Given the description of an element on the screen output the (x, y) to click on. 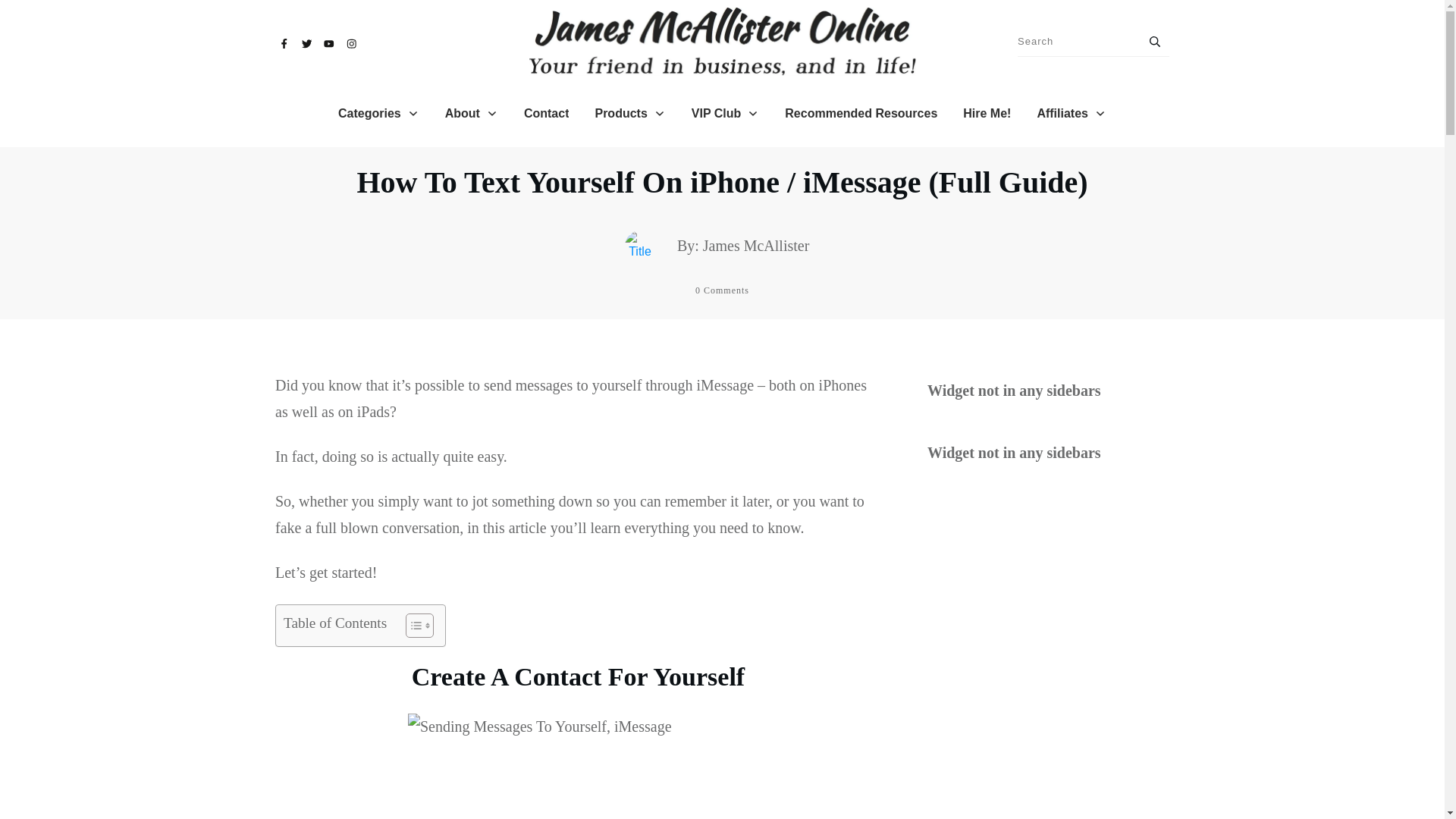
About (471, 113)
Affiliates (1071, 113)
Title Banner with Sidebar (640, 245)
Hire Me! (986, 113)
Categories (378, 113)
Recommended Resources (860, 113)
Contact (546, 113)
Products (629, 113)
VIP Club (725, 113)
